Given the description of an element on the screen output the (x, y) to click on. 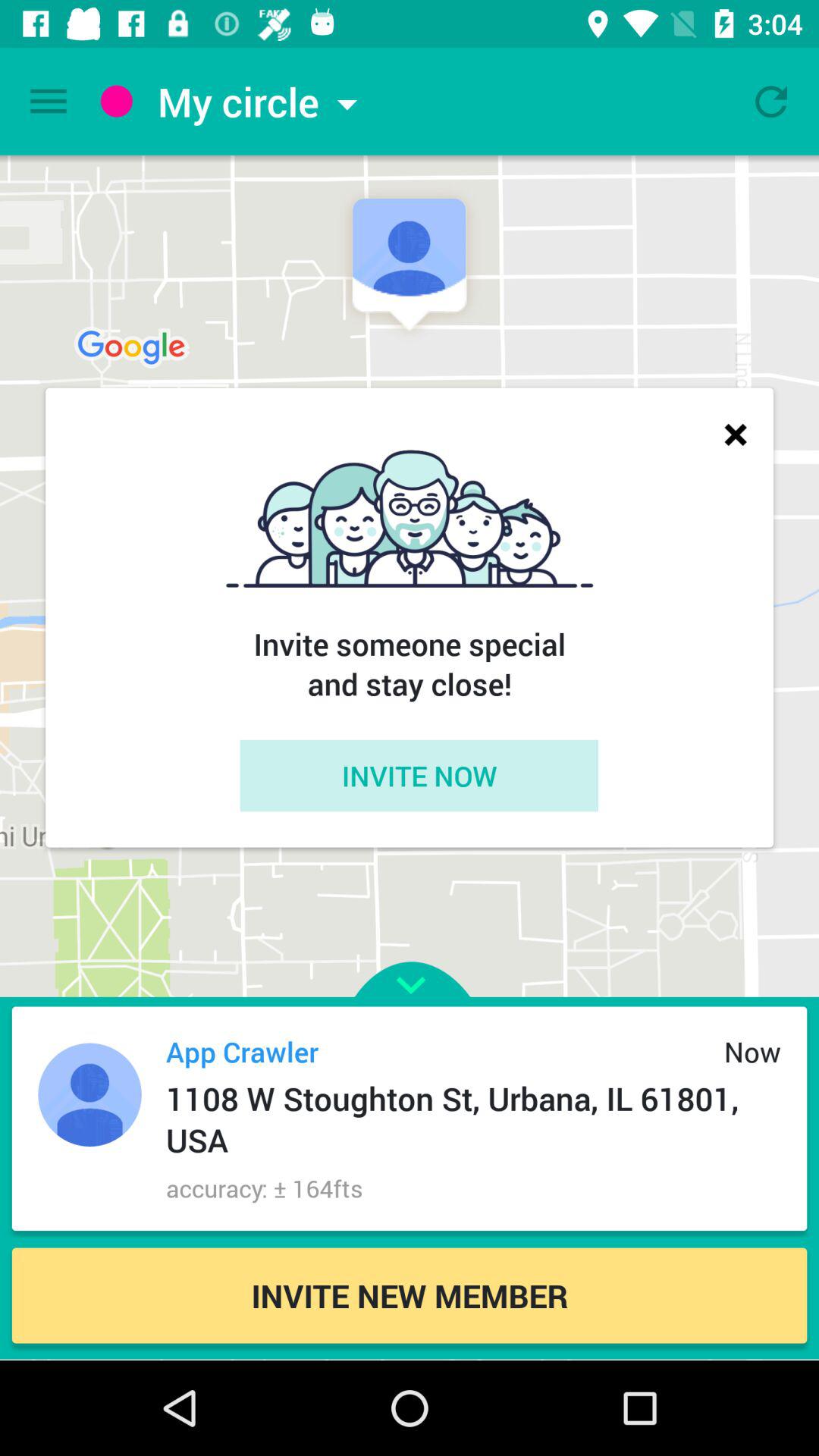
refresh circle (771, 101)
